Given the description of an element on the screen output the (x, y) to click on. 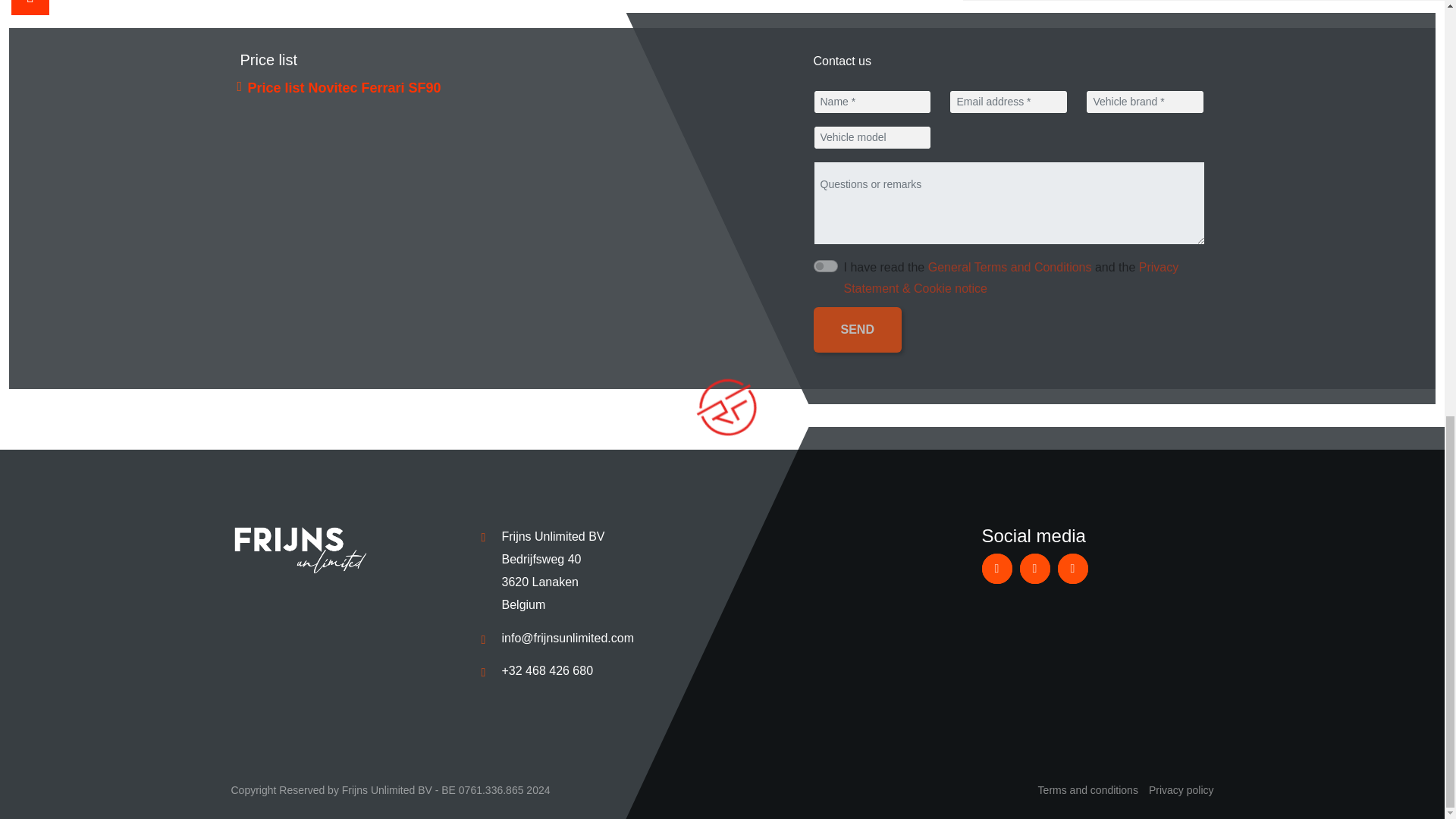
General Terms and Conditions (1010, 267)
SEND (856, 329)
on (824, 265)
Terms and conditions (1088, 789)
Price list Novitec Ferrari SF90 (344, 87)
